Given the description of an element on the screen output the (x, y) to click on. 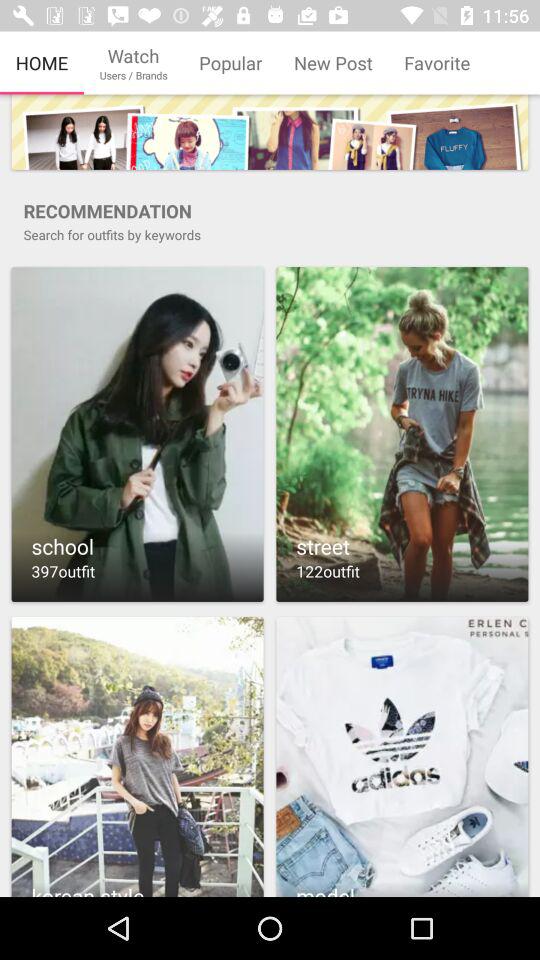
view school outfits (137, 434)
